Given the description of an element on the screen output the (x, y) to click on. 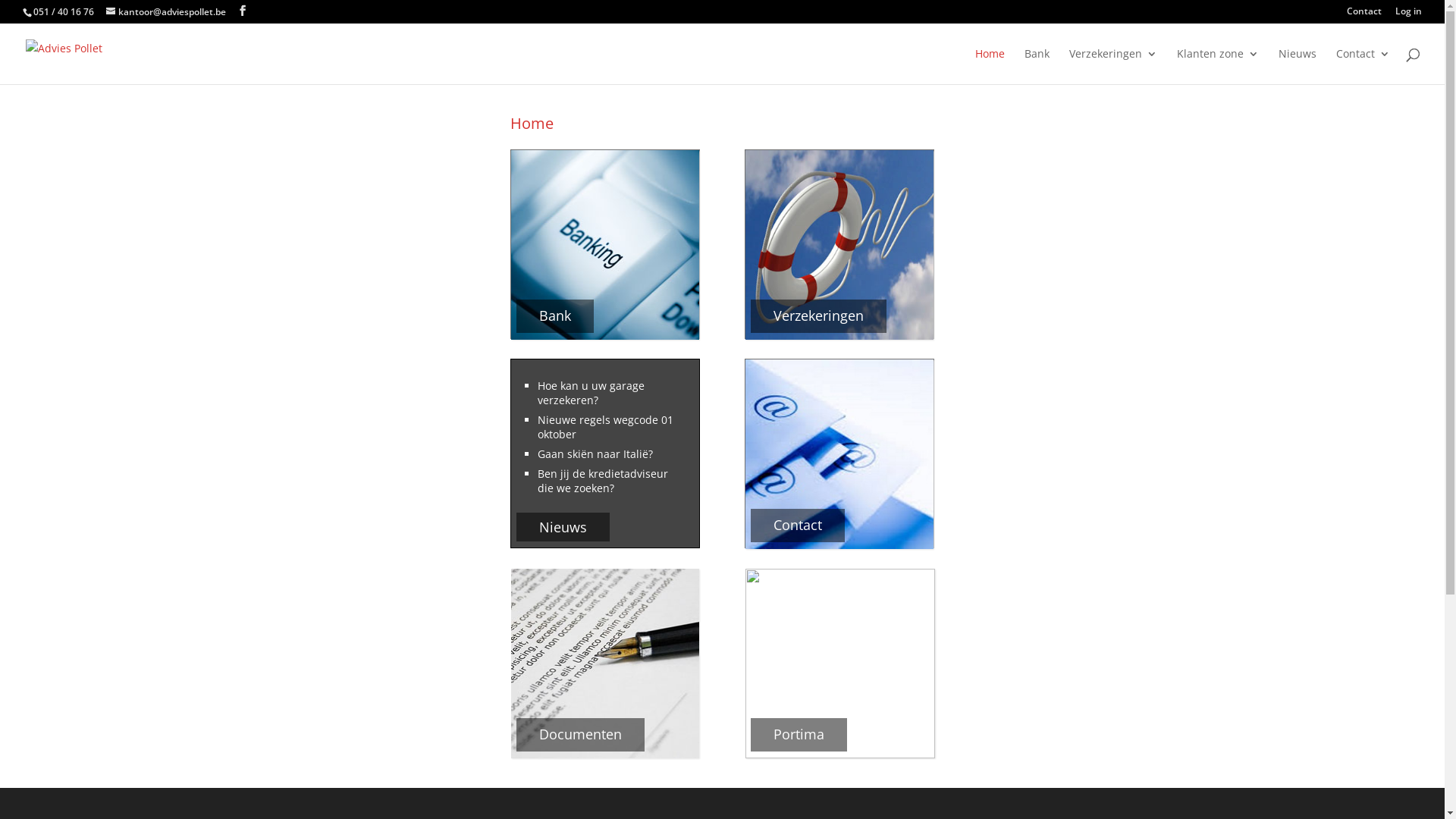
Nieuws Element type: text (1297, 66)
kantoor@adviespollet.be Element type: text (165, 11)
Home Element type: text (531, 122)
Klanten zone Element type: text (1217, 66)
Contact Element type: text (1363, 14)
Contact Element type: text (1363, 66)
Home Element type: text (989, 66)
Nieuwe regels wegcode 01 oktober Element type: text (605, 426)
Bank Element type: text (1036, 66)
Log in Element type: text (1408, 14)
Hoe kan u uw garage verzekeren? Element type: text (590, 392)
Ben jij de kredietadviseur die we zoeken? Element type: text (602, 480)
Verzekeringen Element type: text (1113, 66)
